Given the description of an element on the screen output the (x, y) to click on. 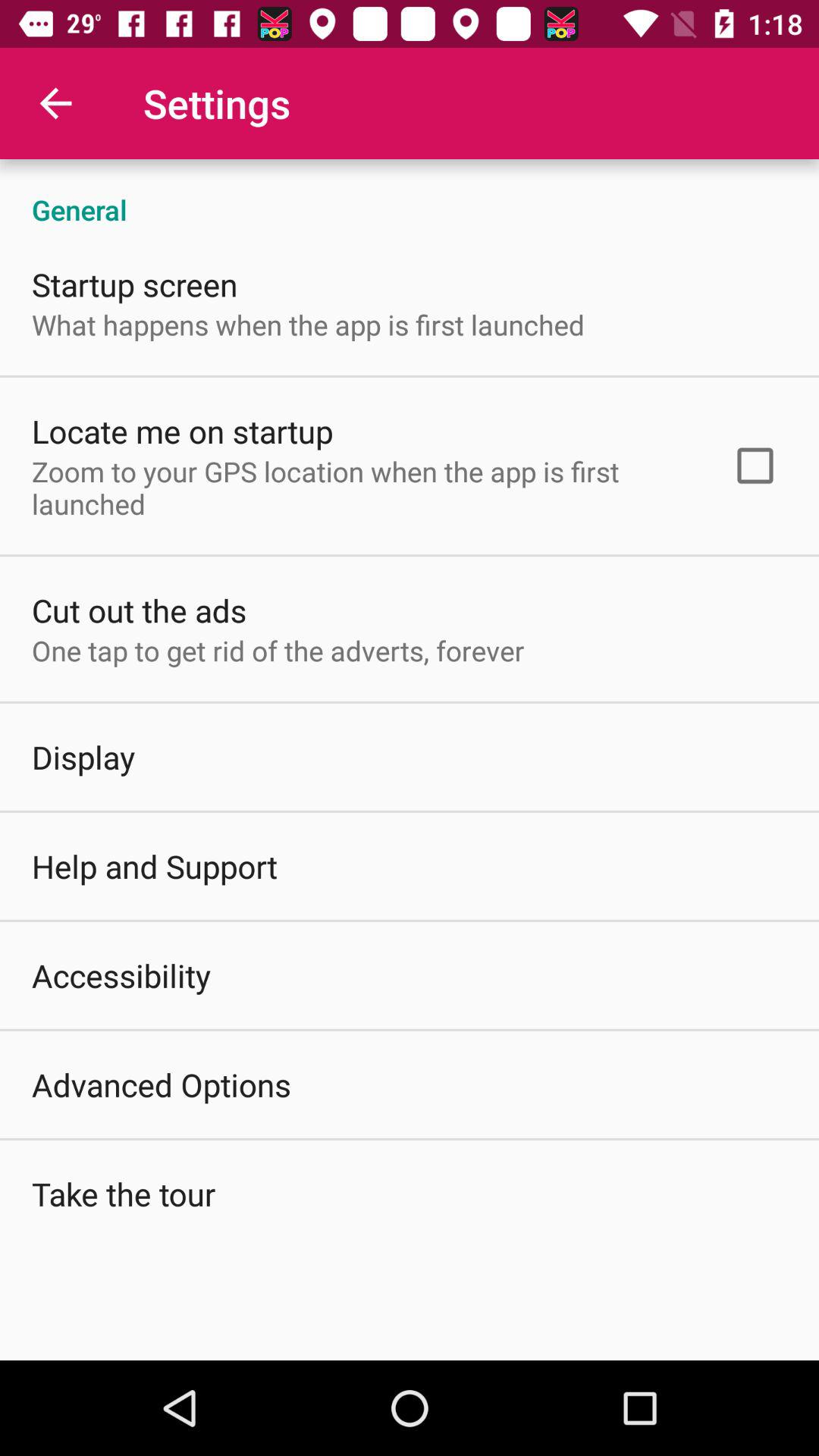
click the icon above advanced options icon (121, 975)
